Given the description of an element on the screen output the (x, y) to click on. 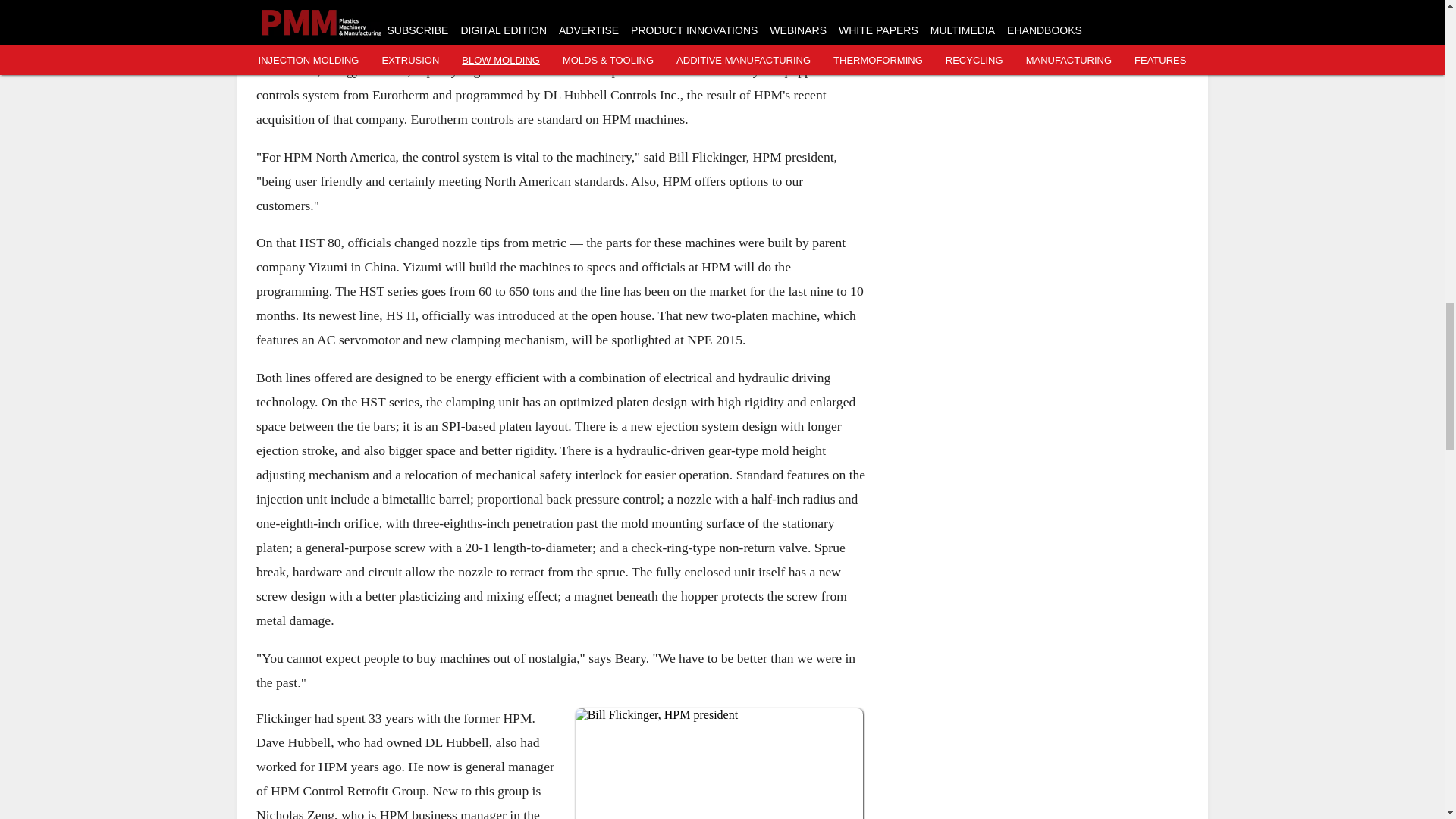
Bill Flickinger, HPM president (719, 763)
